Given the description of an element on the screen output the (x, y) to click on. 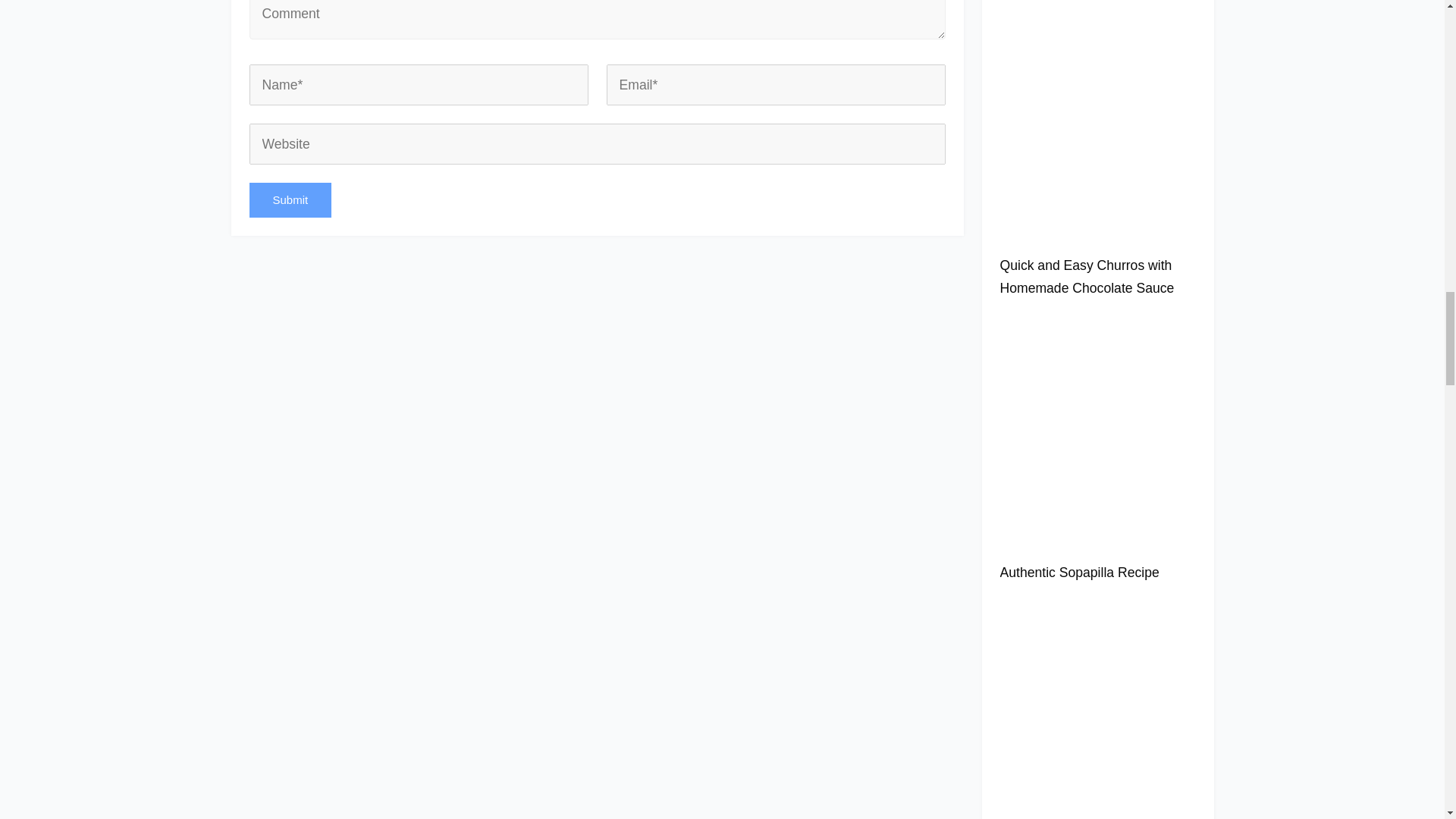
Submit (289, 199)
